Given the description of an element on the screen output the (x, y) to click on. 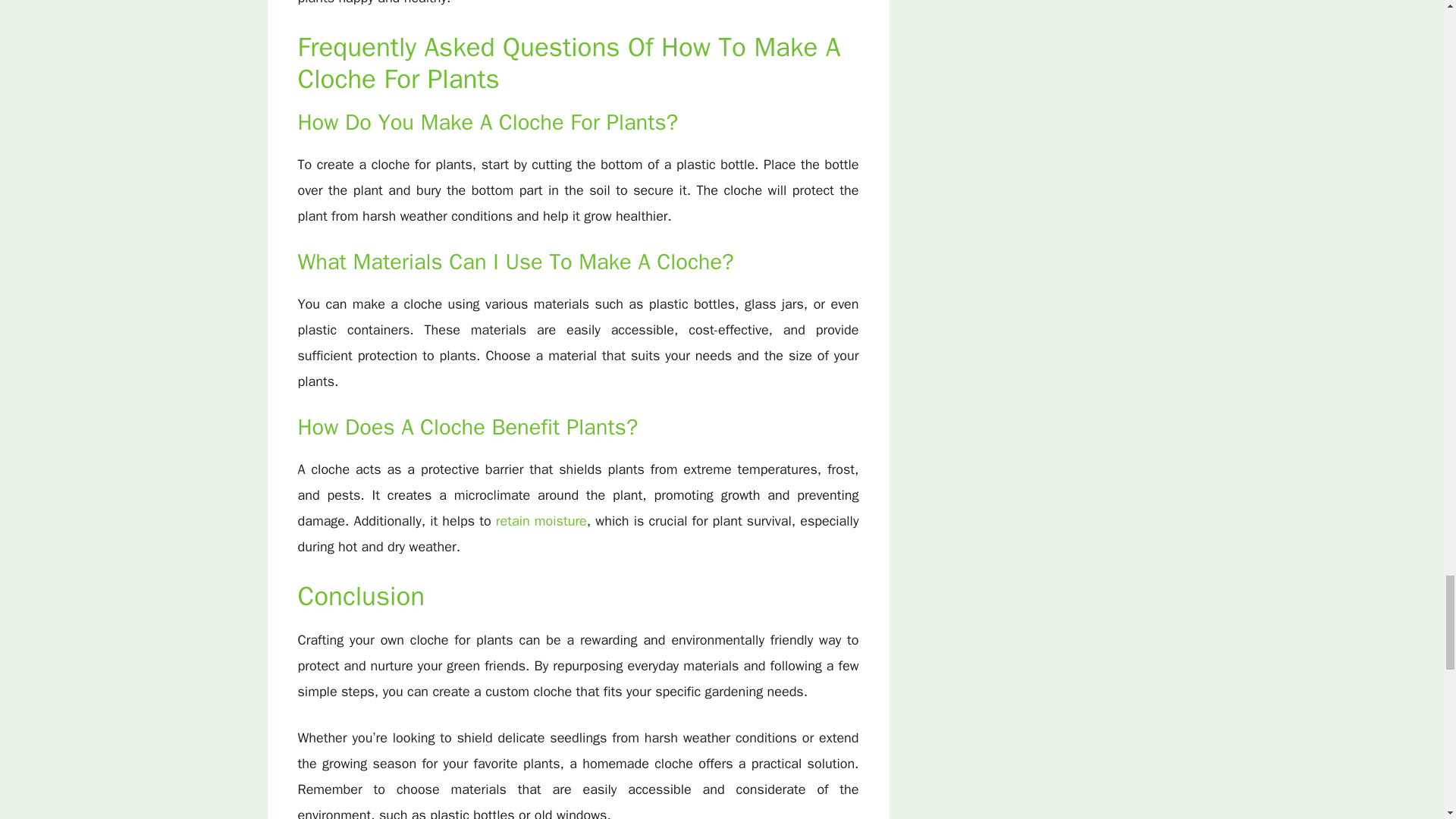
retain moisture (541, 520)
